Given the description of an element on the screen output the (x, y) to click on. 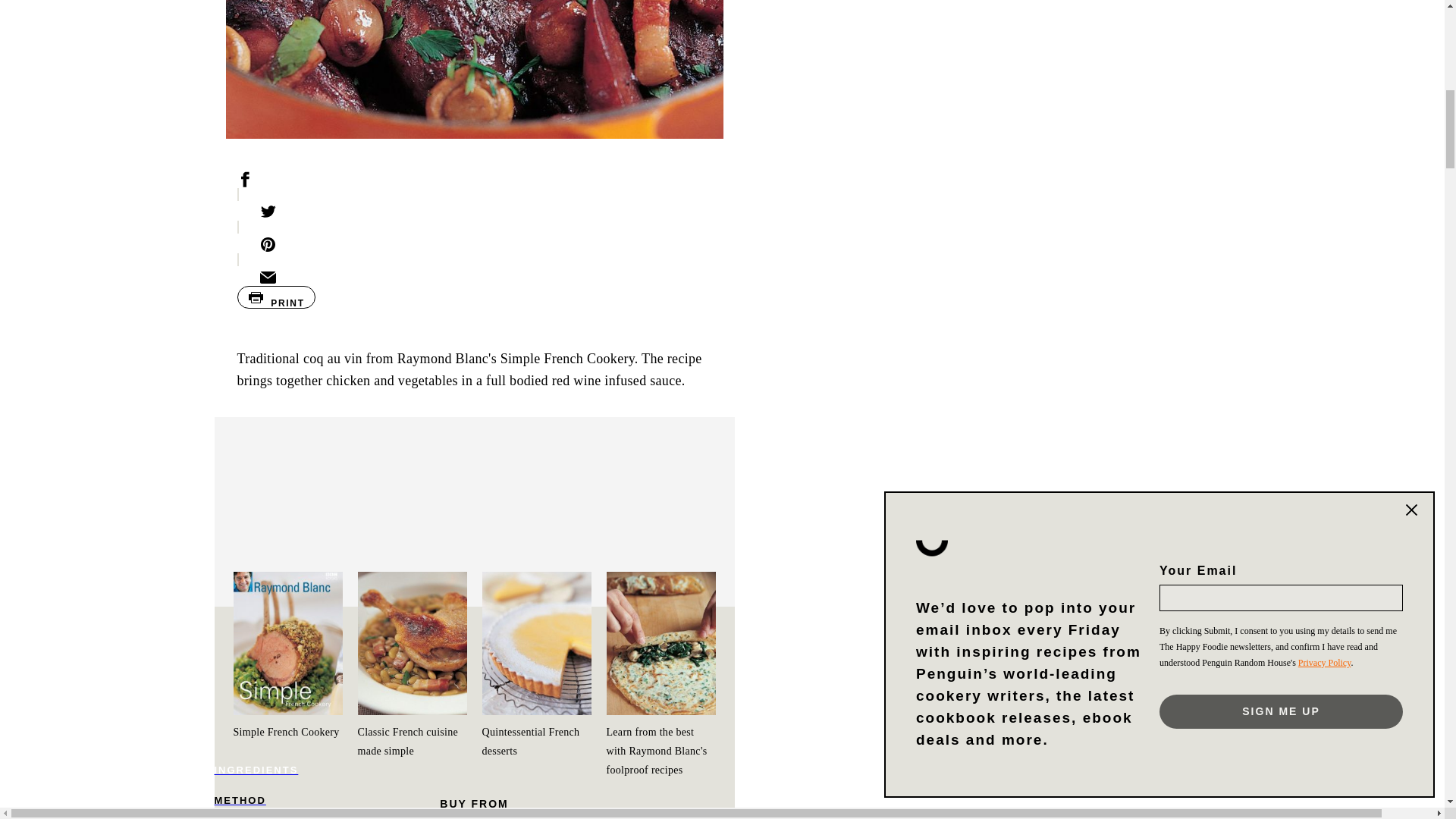
Share by Email (473, 282)
